Given the description of an element on the screen output the (x, y) to click on. 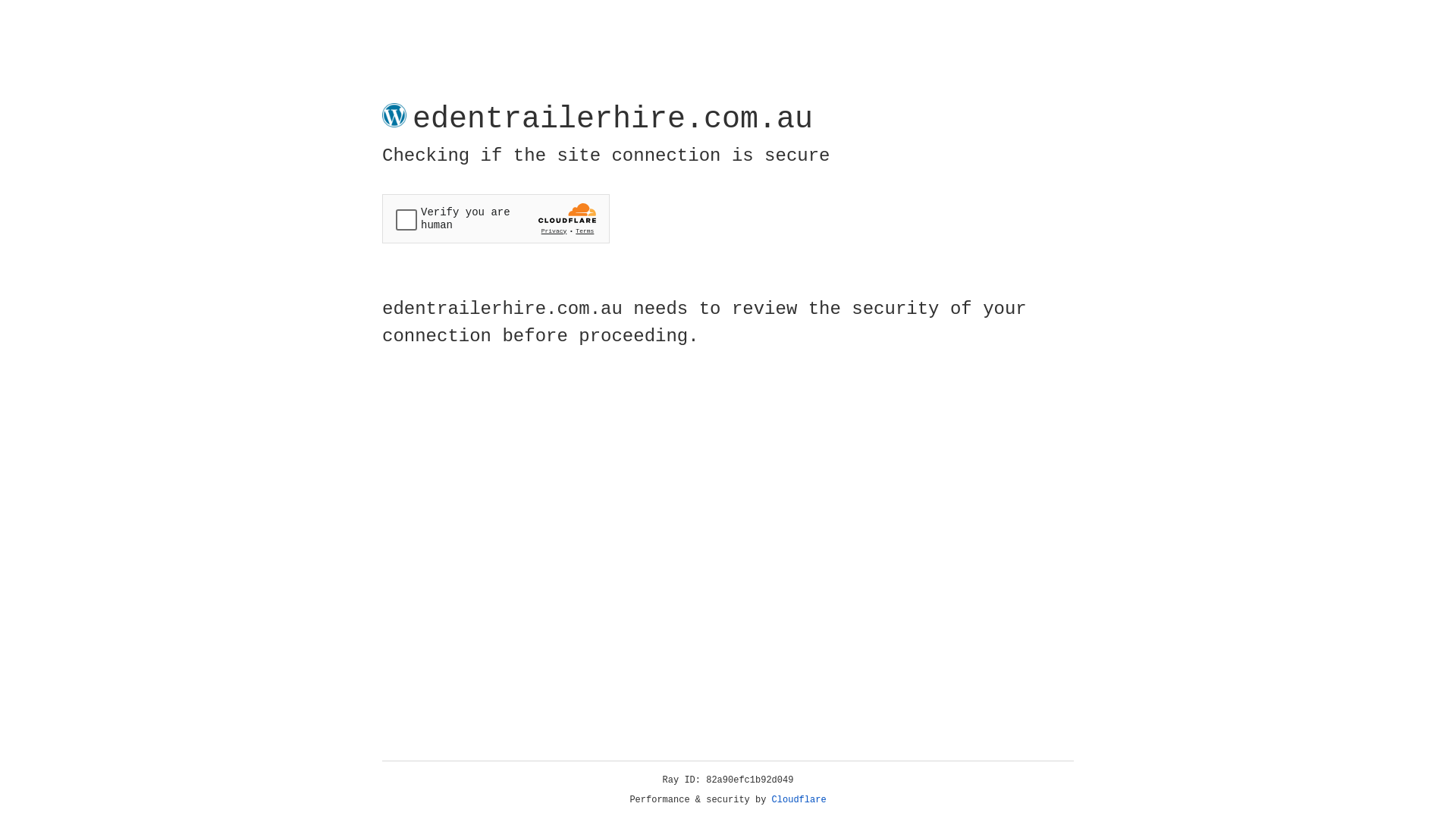
Widget containing a Cloudflare security challenge Element type: hover (495, 218)
Cloudflare Element type: text (798, 799)
